Given the description of an element on the screen output the (x, y) to click on. 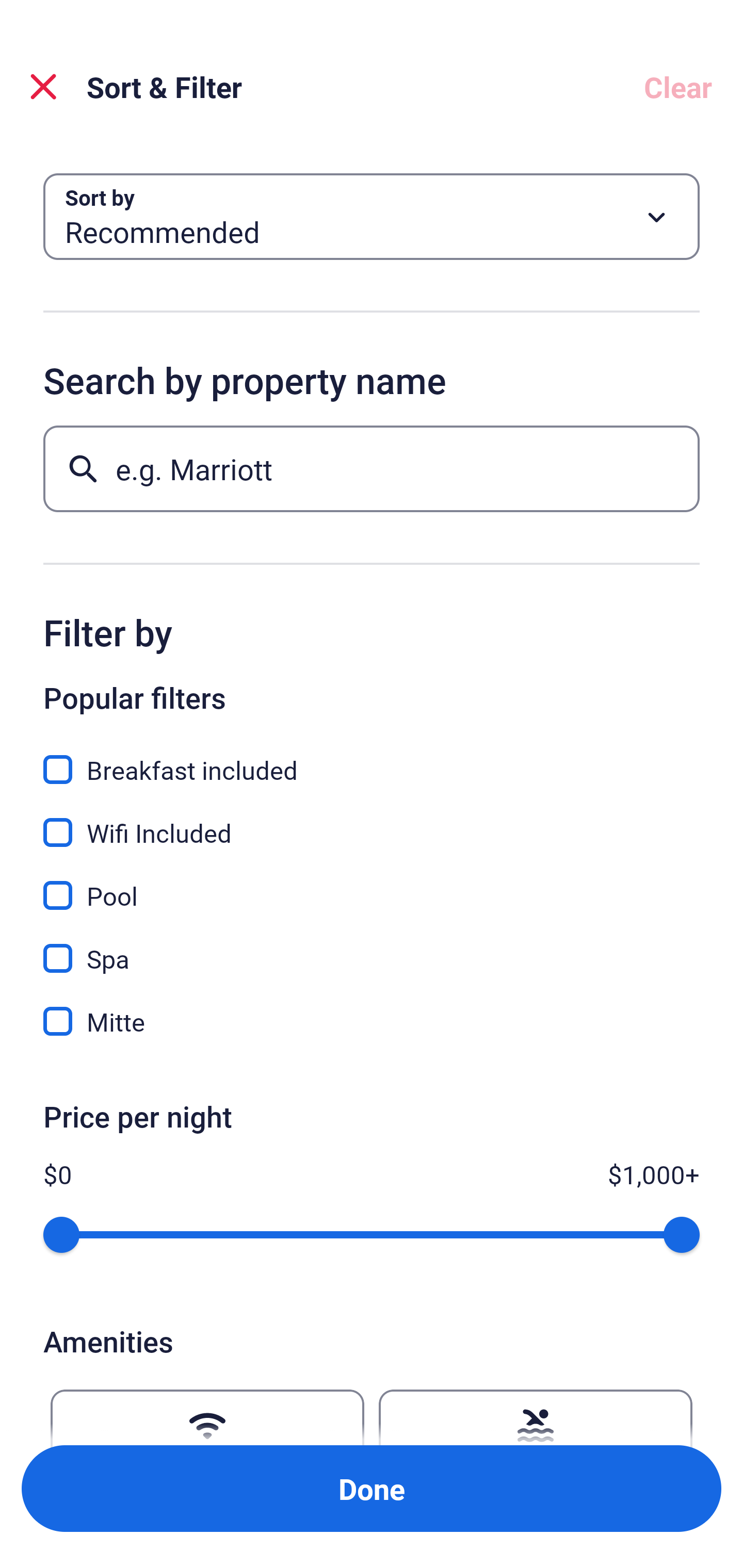
Close Sort and Filter (43, 86)
Clear (677, 86)
Sort by Button Recommended (371, 217)
e.g. Marriott Button (371, 468)
Breakfast included, Breakfast included (371, 757)
Wifi Included, Wifi Included (371, 821)
Pool, Pool (371, 883)
Spa, Spa (371, 946)
Mitte, Mitte (371, 1021)
Apply and close Sort and Filter Done (371, 1488)
